Given the description of an element on the screen output the (x, y) to click on. 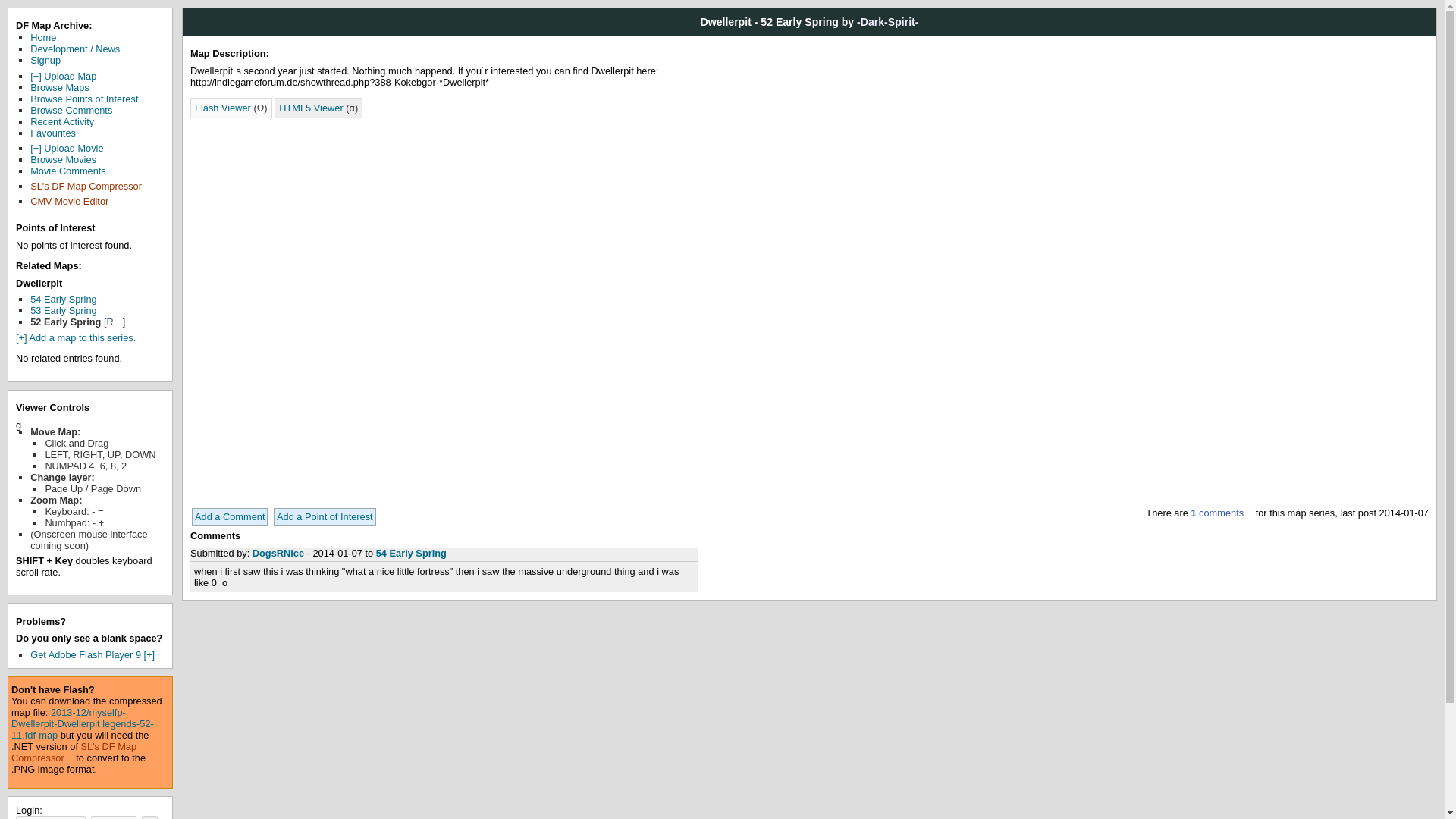
CMV Movie Editor (73, 201)
54 Early Spring (410, 552)
R (114, 321)
-Dark-Spirit- (887, 21)
Flash map viewer no longer works in most modern browsers (231, 107)
Latest movie comments (68, 170)
external link (73, 201)
53 Early Spring (63, 310)
Latest map comments, search comments (71, 110)
Movie Comments (68, 170)
Recent Activity (62, 120)
Upload an animated video of your fortress! (66, 147)
Browse Maps (59, 87)
Add a Point of Interest (324, 516)
Browse user submitted DF movies! (63, 159)
